Given the description of an element on the screen output the (x, y) to click on. 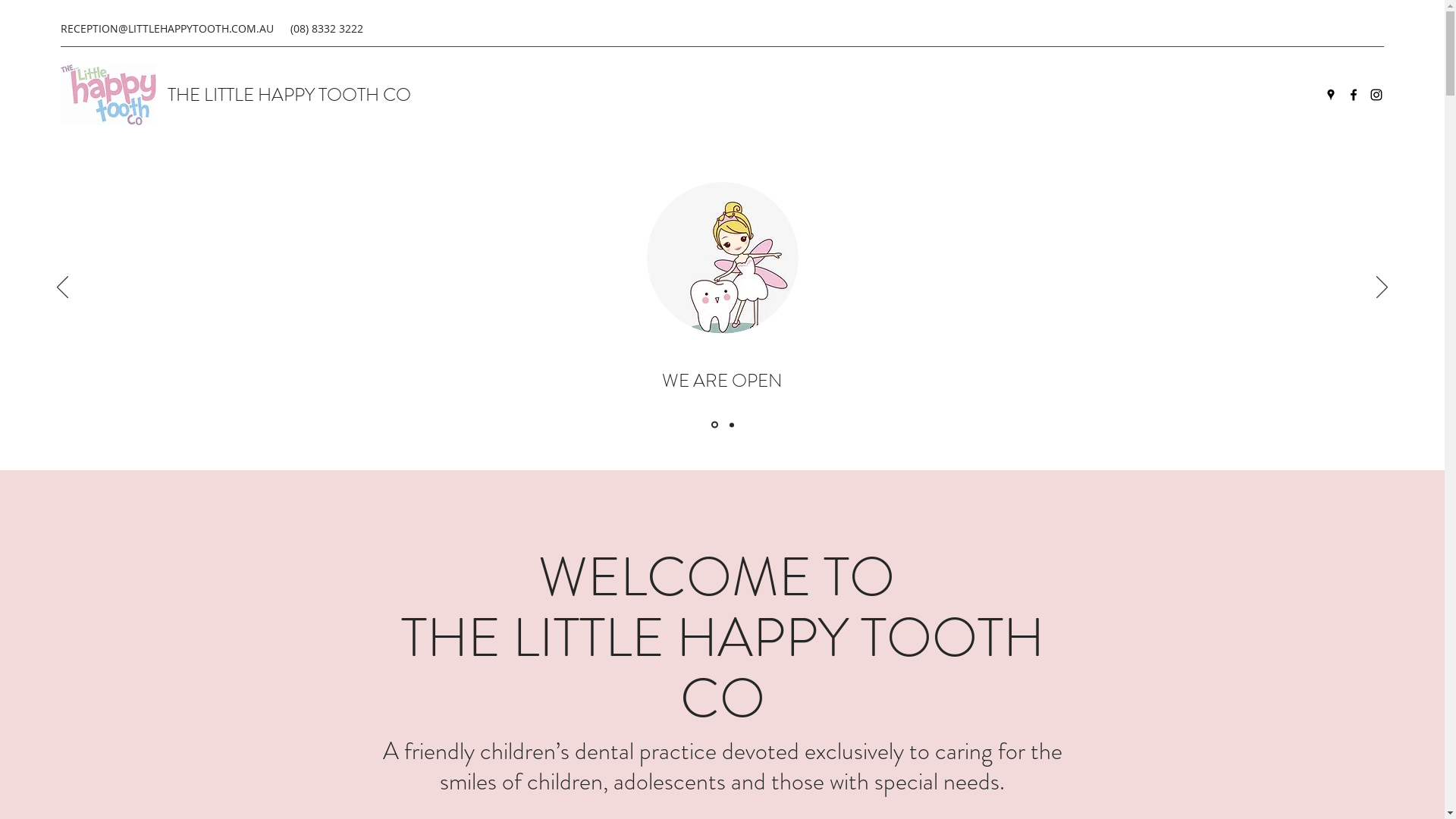
RECEPTION@LITTLEHAPPYTOOTH.COM.AU Element type: text (166, 28)
